Given the description of an element on the screen output the (x, y) to click on. 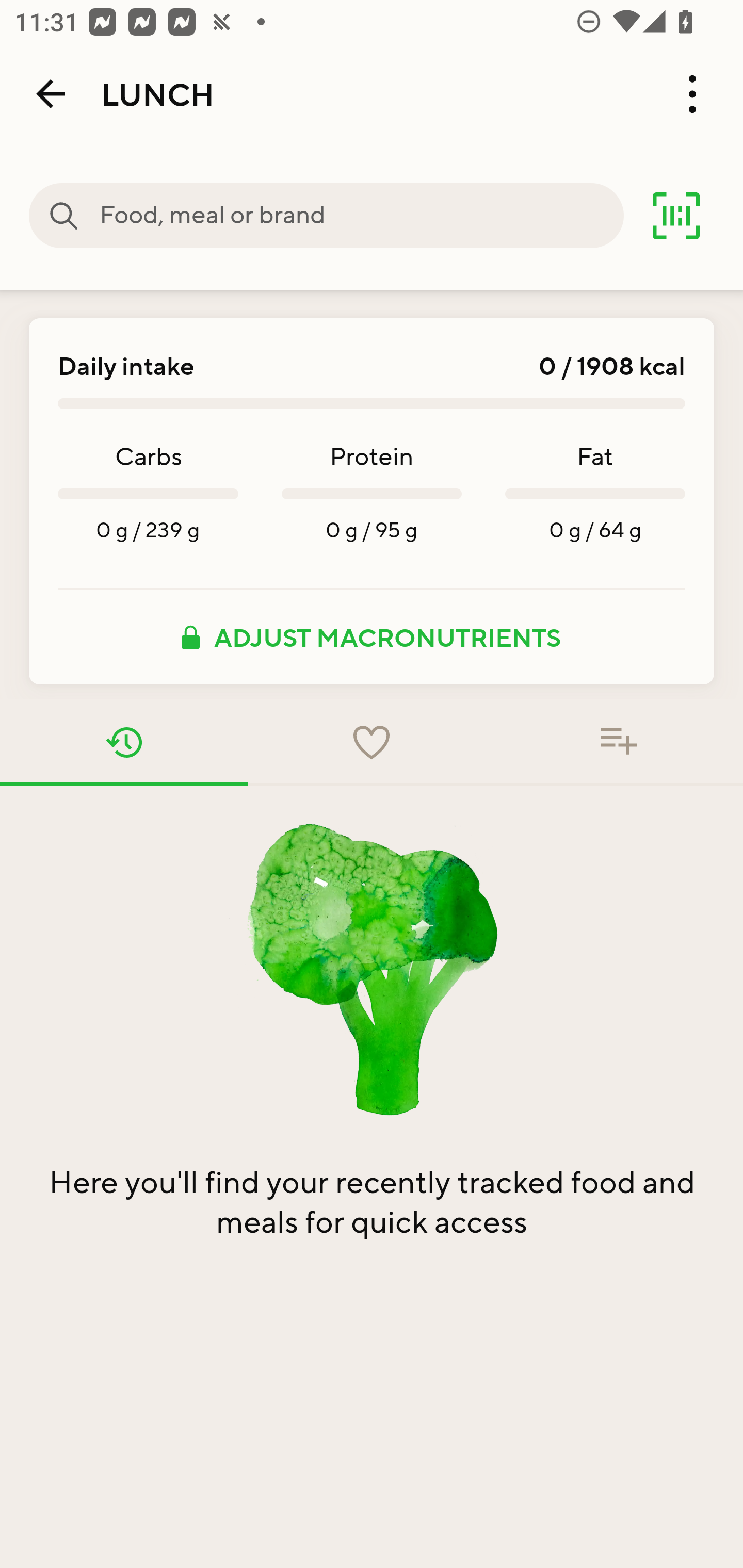
Back (50, 93)
Food, meal or brand (63, 215)
Food, meal or brand (361, 215)
ADJUST MACRONUTRIENTS (371, 637)
Favorites (371, 742)
Food added (619, 742)
